Given the description of an element on the screen output the (x, y) to click on. 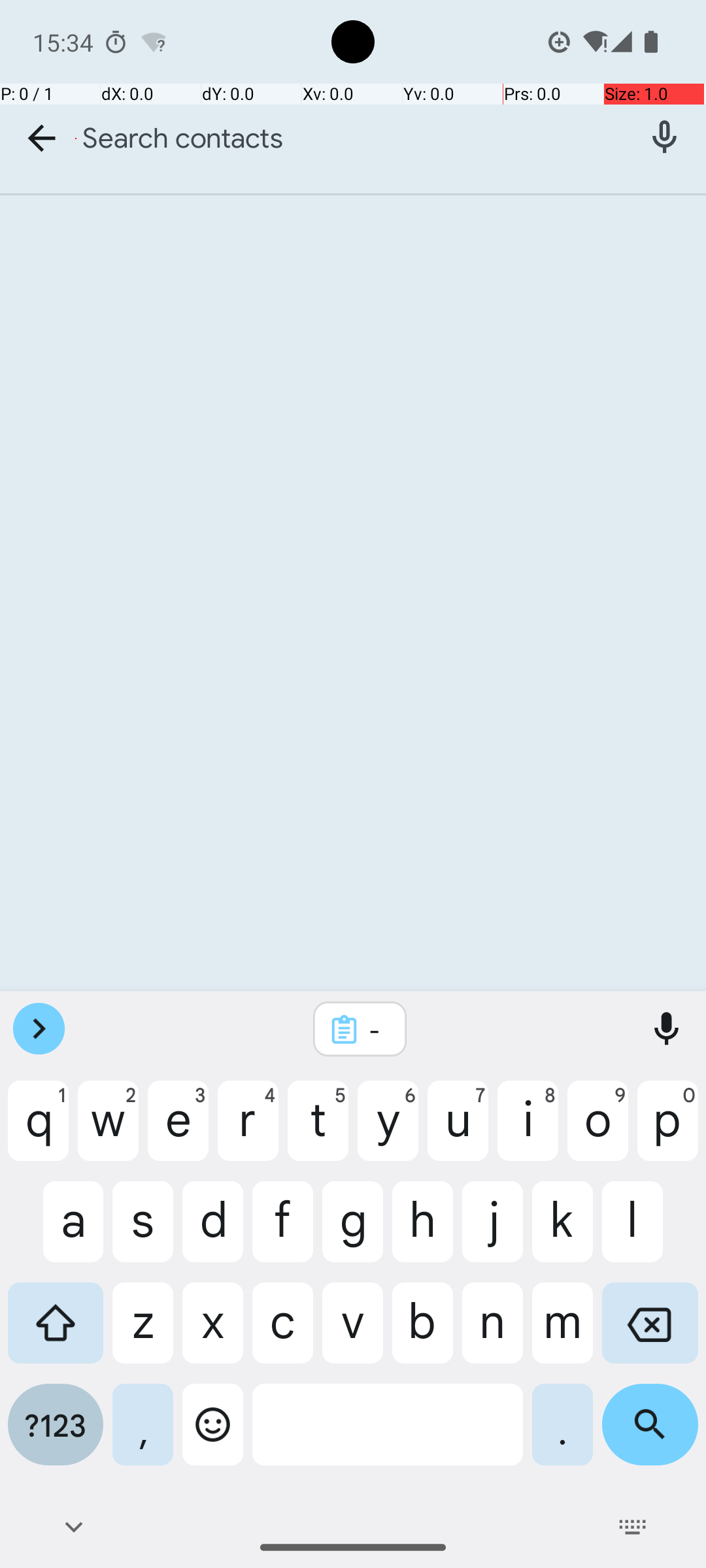
Search contacts Element type: android.widget.EditText (352, 138)
